Given the description of an element on the screen output the (x, y) to click on. 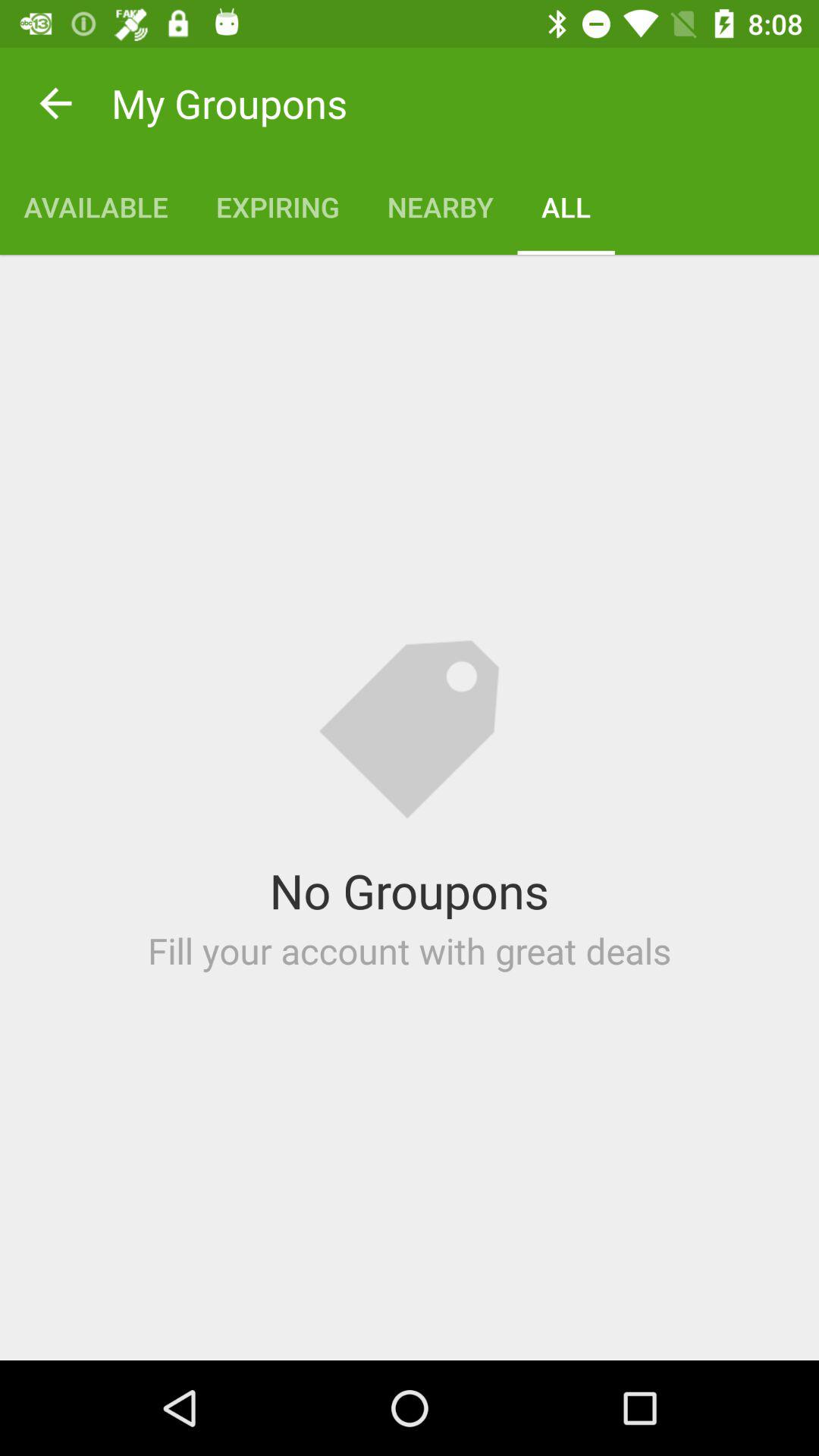
choose icon below the my groupons icon (440, 206)
